Given the description of an element on the screen output the (x, y) to click on. 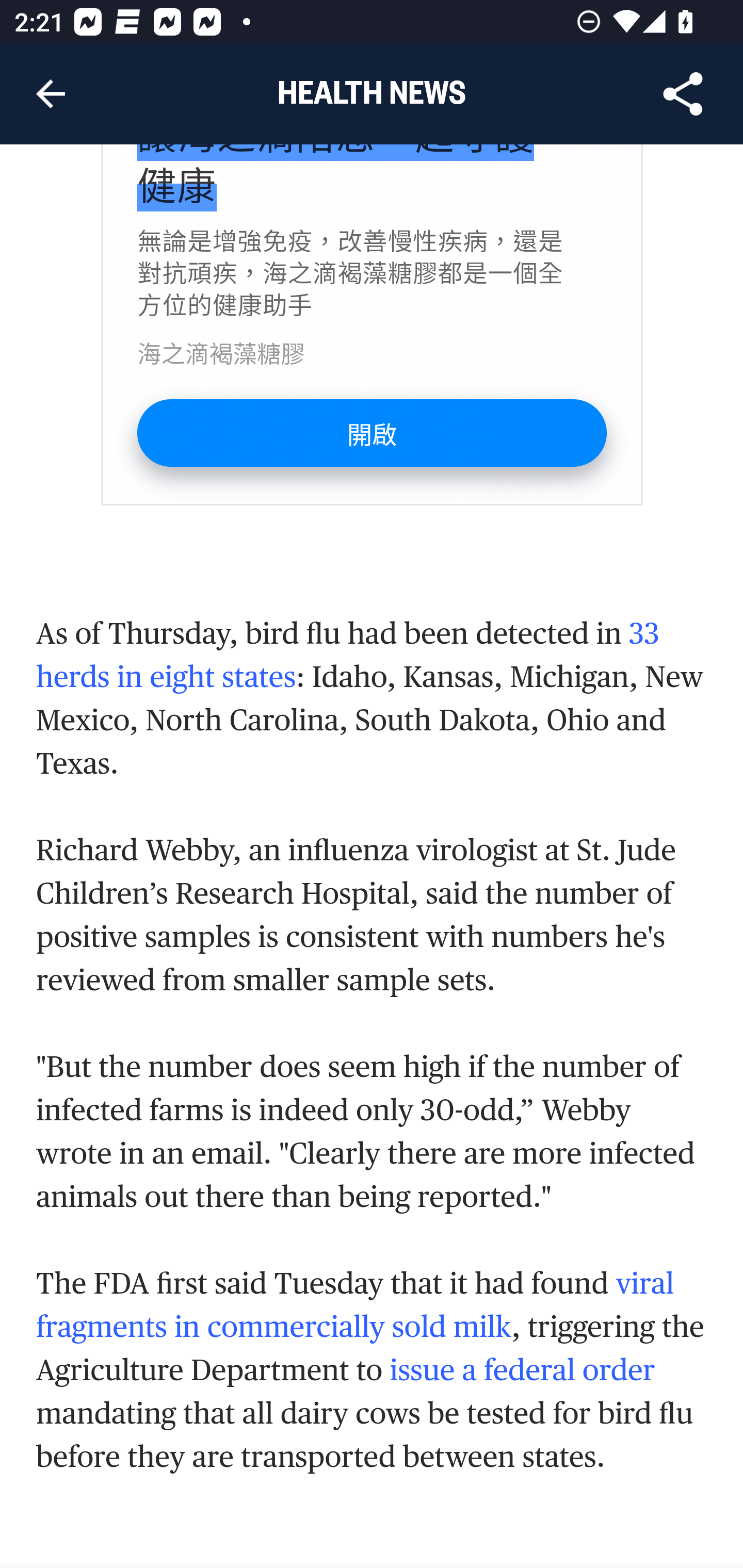
Navigate up (50, 93)
Share Article, button (683, 94)
海之滴褐藻糖膠 (220, 353)
開啟 (372, 433)
33 herds in eight states (348, 655)
viral fragments in commercially sold milk (355, 1305)
issue a federal order (521, 1370)
